Given the description of an element on the screen output the (x, y) to click on. 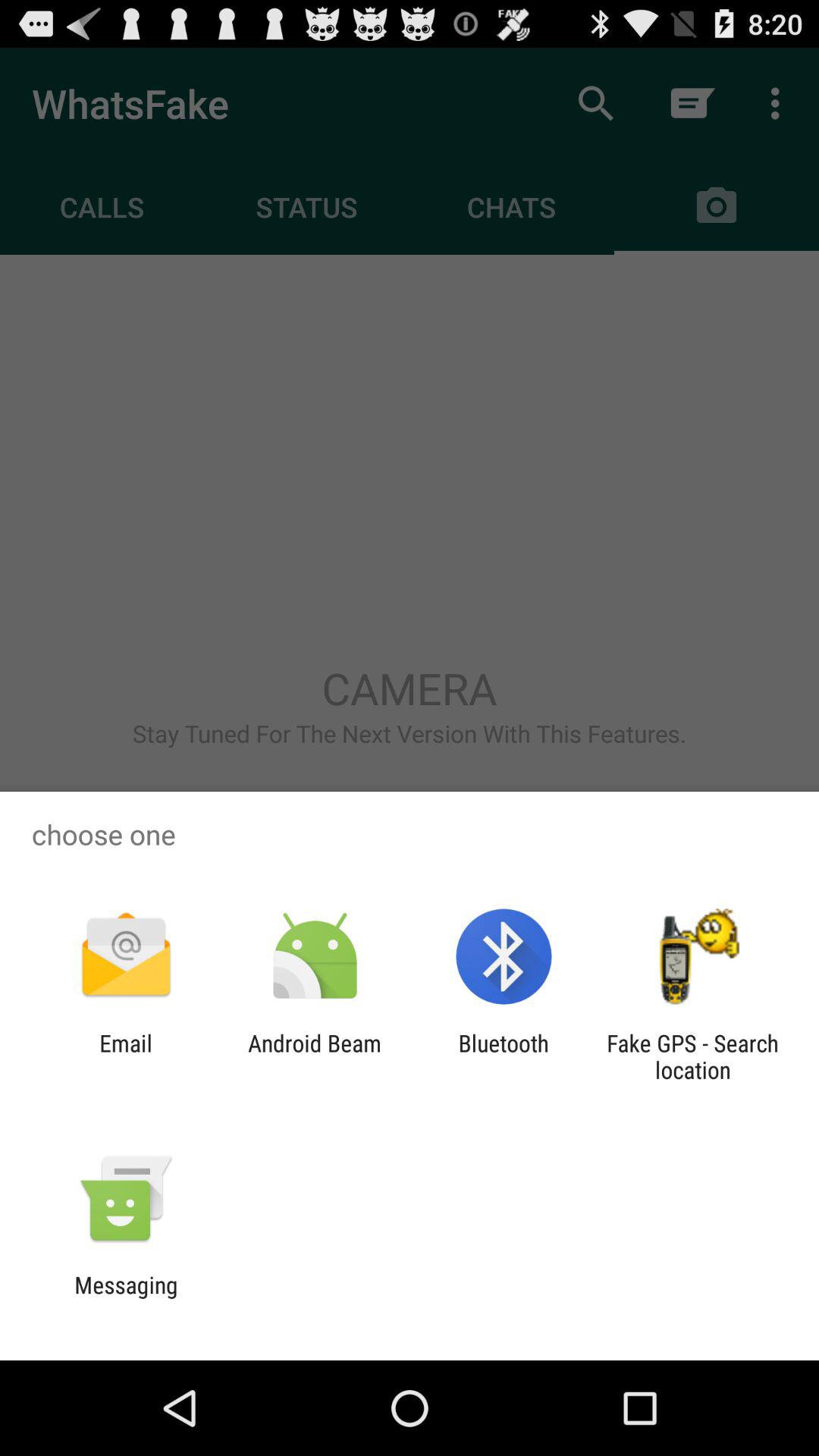
launch app to the right of the email icon (314, 1056)
